Given the description of an element on the screen output the (x, y) to click on. 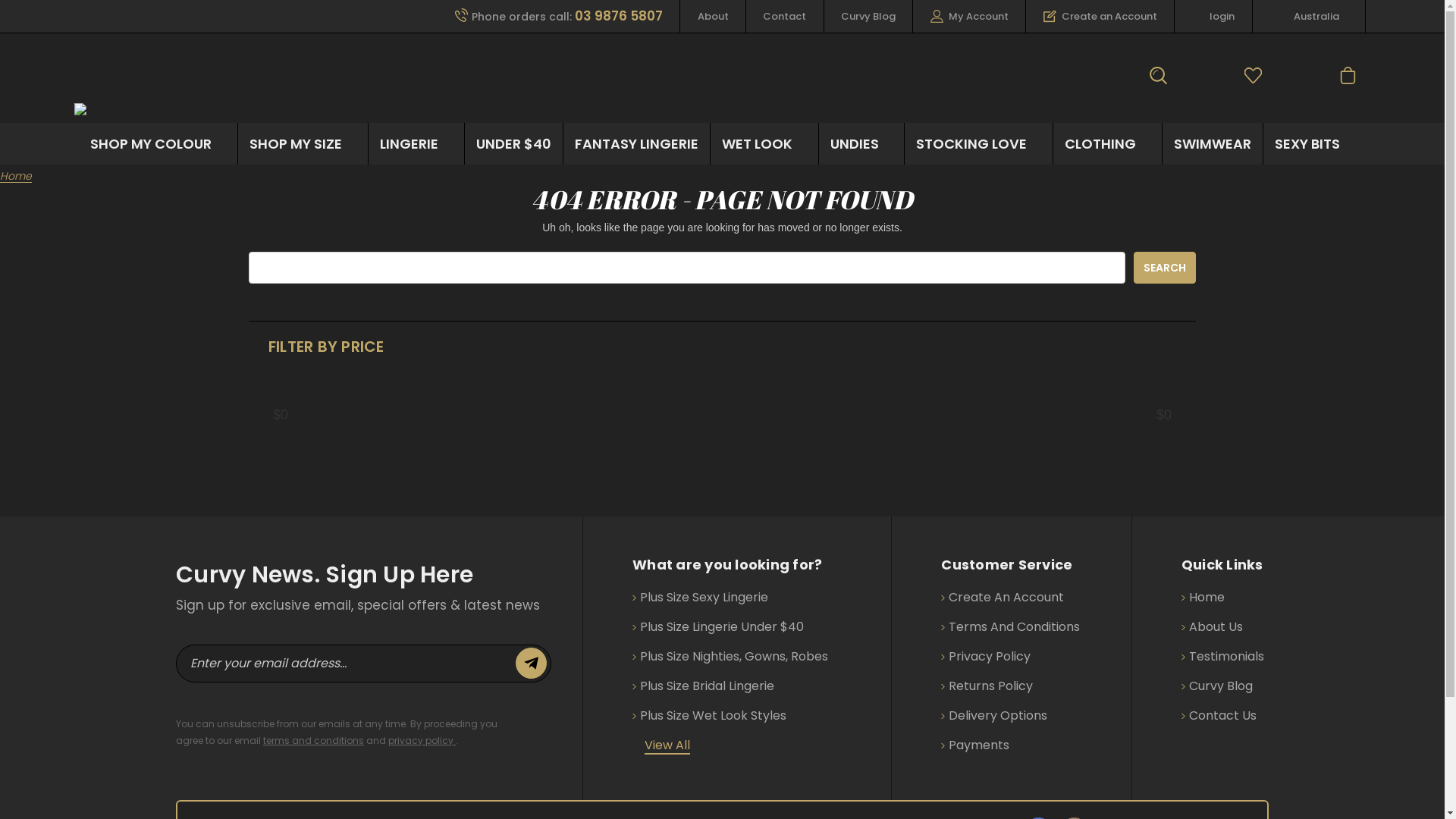
Curvy Blog Element type: text (1216, 686)
WET LOOK Element type: text (764, 143)
terms and conditions Element type: text (313, 740)
Australia Element type: text (1308, 16)
Create An Account Element type: text (1002, 597)
Plus Size Nighties, Gowns, Robes Element type: text (730, 656)
Plus Size Sexy Lingerie Element type: text (700, 597)
Contact Us Element type: text (1218, 715)
privacy policy Element type: text (421, 740)
Plus Size Wet Look Styles Element type: text (709, 715)
Home Element type: text (15, 175)
Delivery Options Element type: text (994, 715)
About Element type: text (712, 16)
FANTASY LINGERIE Element type: text (636, 143)
Plus Size Lingerie Under $40 Element type: text (717, 627)
SHOP MY SIZE Element type: text (302, 143)
Plus Size Bridal Lingerie Element type: text (703, 686)
Terms And Conditions Element type: text (1010, 627)
CLOTHING Element type: text (1107, 143)
SEXY BITS Element type: text (1314, 143)
UNDIES Element type: text (861, 143)
Testimonials Element type: text (1222, 656)
Returns Policy Element type: text (986, 686)
Payments Element type: text (975, 745)
Privacy Policy Element type: text (985, 656)
About Us Element type: text (1211, 627)
STOCKING LOVE Element type: text (978, 143)
Curvaceously Yours Lingerie Element type: hover (223, 109)
Create an Account Element type: text (1099, 16)
SHOP MY COLOUR Element type: text (157, 143)
SWIMWEAR Element type: text (1212, 143)
LINGERIE Element type: text (416, 143)
login Element type: text (1213, 16)
View All Element type: text (667, 745)
Home Element type: text (1202, 597)
My Account Element type: text (969, 16)
Search Element type: text (1164, 267)
UNDER $40 Element type: text (513, 143)
Contact Element type: text (784, 16)
Curvy Blog Element type: text (868, 16)
